Given the description of an element on the screen output the (x, y) to click on. 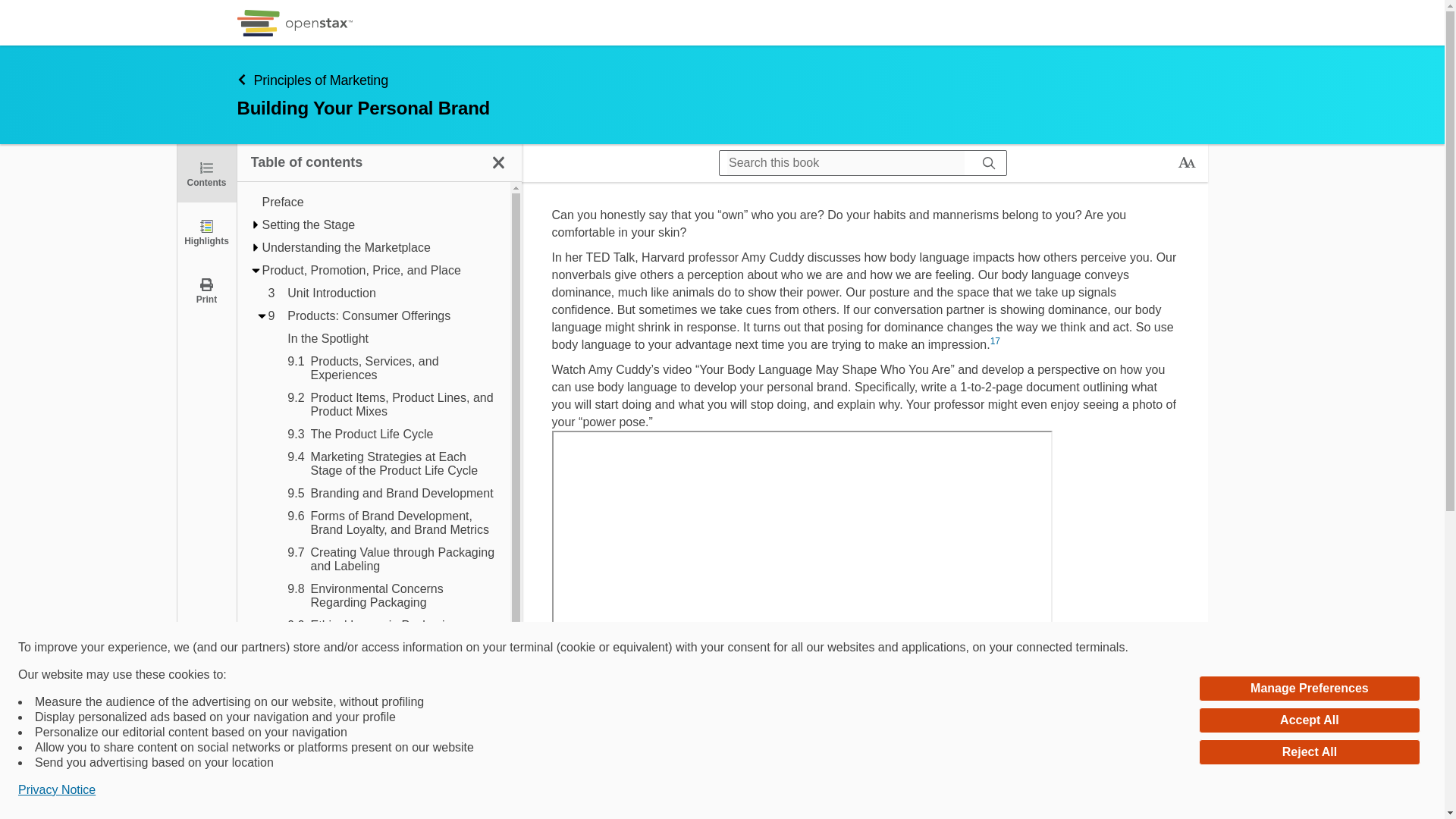
Manage Preferences (1309, 688)
Reject All (1309, 751)
Contents (206, 173)
Search (16, 12)
Principles of Marketing (635, 78)
Print (206, 290)
Privacy Notice (56, 789)
Principles of Marketing (338, 119)
Search (989, 162)
Highlights (206, 231)
Preface (379, 202)
Accept All (1309, 720)
